Given the description of an element on the screen output the (x, y) to click on. 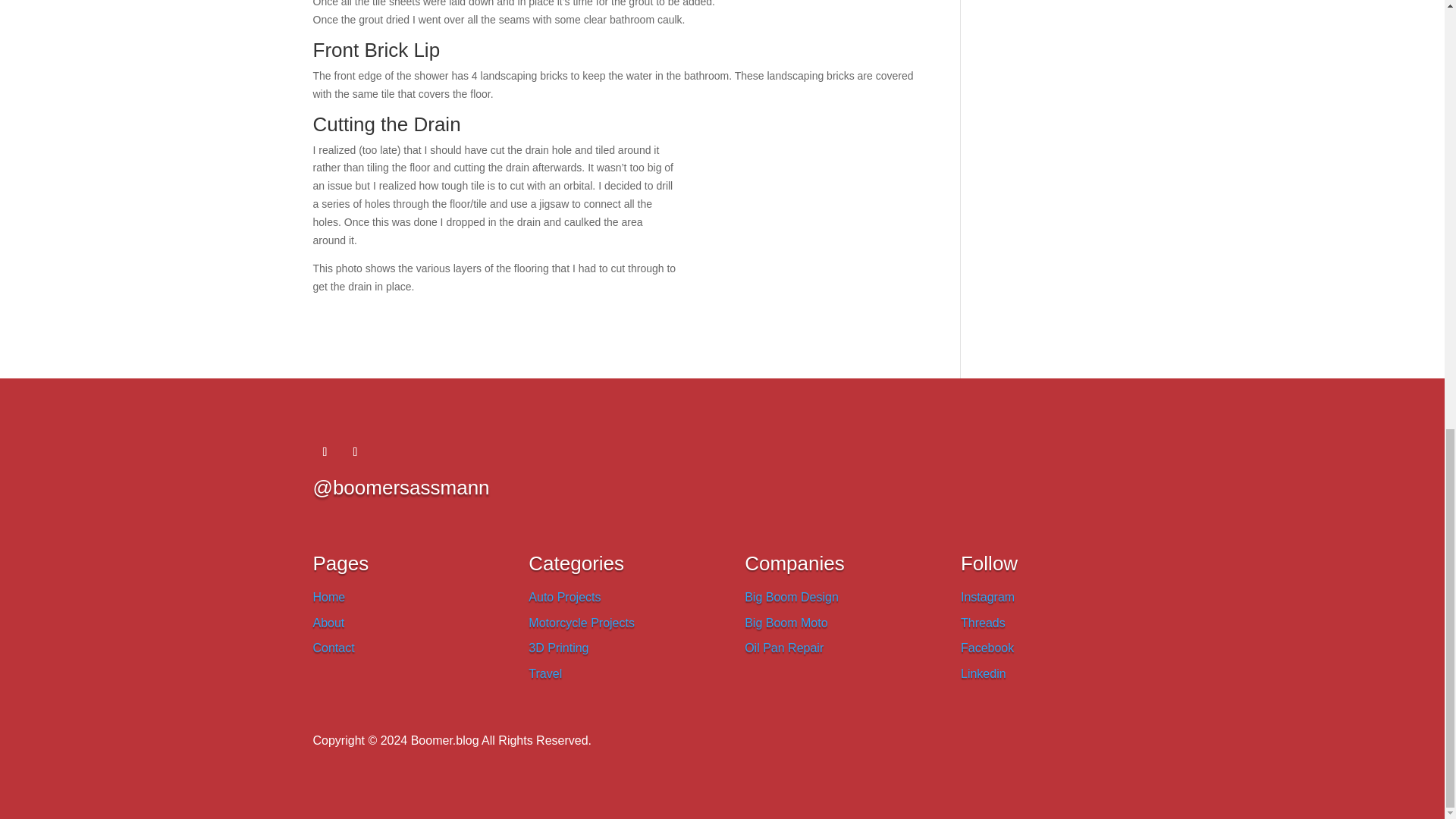
Follow on Facebook (324, 451)
Home (329, 596)
Follow on Instagram (354, 451)
